Given the description of an element on the screen output the (x, y) to click on. 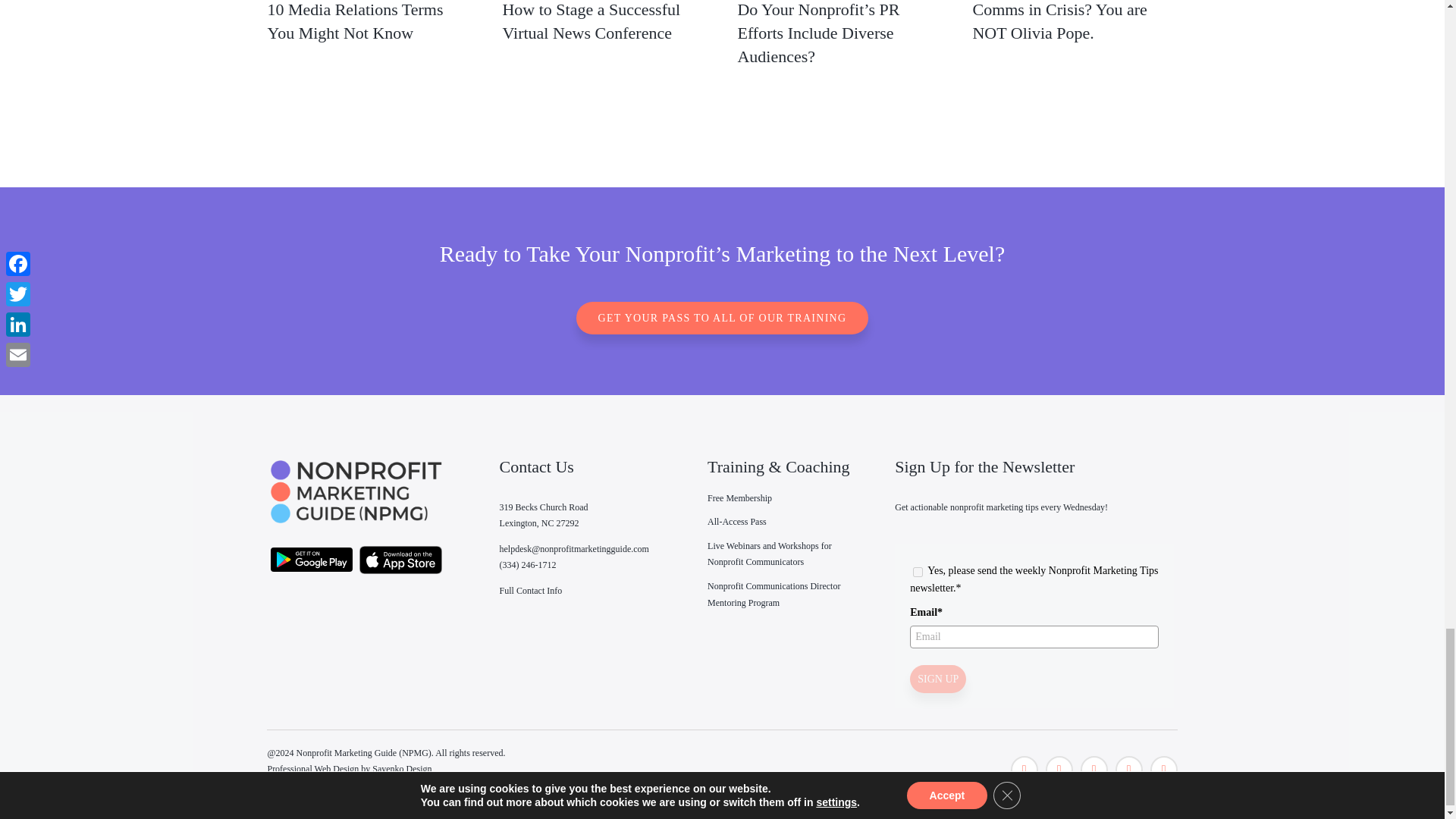
Comms in Crisis? You are NOT Olivia Pope. (1059, 21)
10 Media Relations Terms You Might Not Know (354, 21)
Nonprofit Marketing Guide NPMG logo (356, 491)
How to Stage a Successful Virtual News Conference (590, 21)
